Given the description of an element on the screen output the (x, y) to click on. 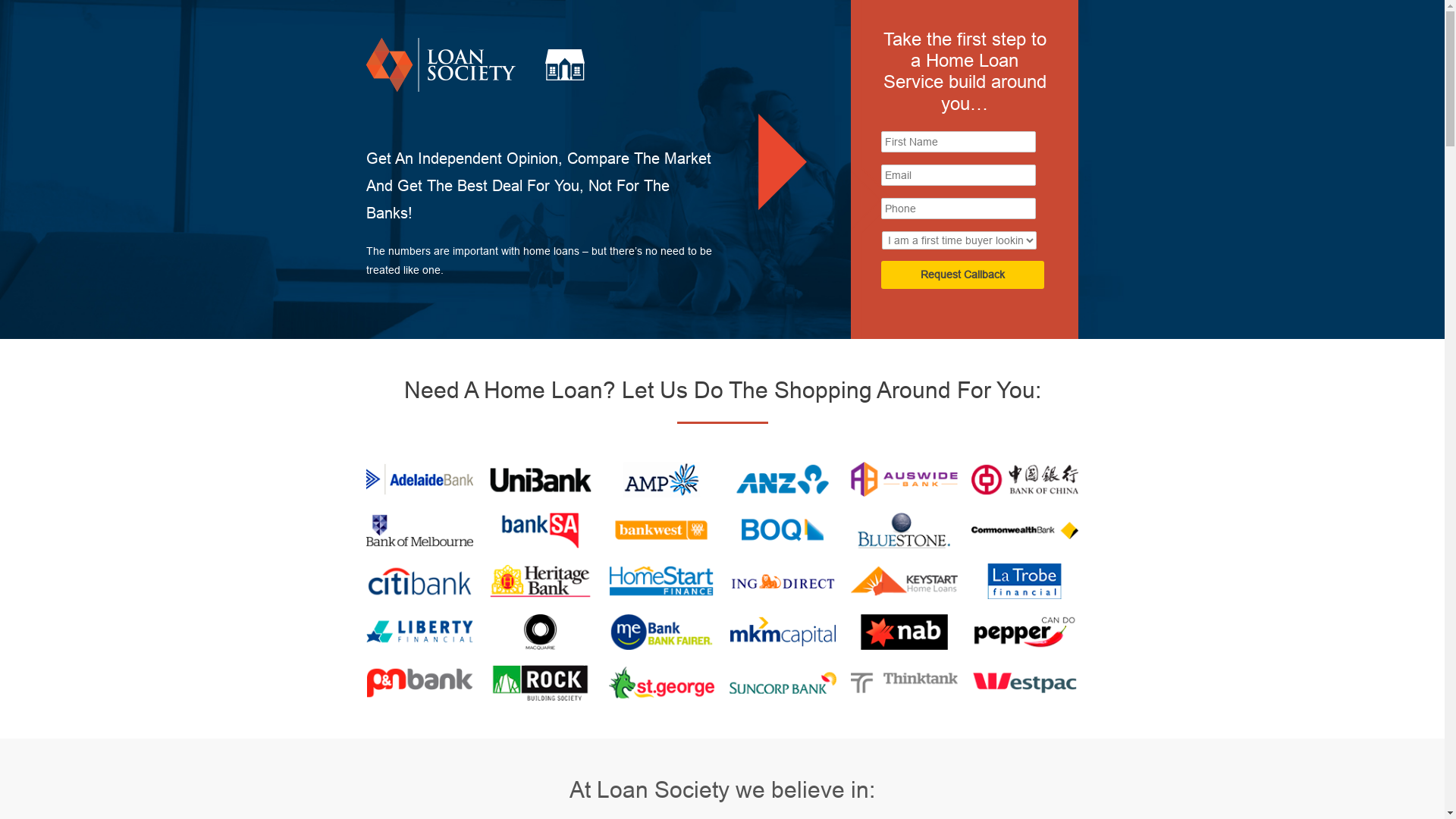
Request Callback Element type: text (962, 274)
